Given the description of an element on the screen output the (x, y) to click on. 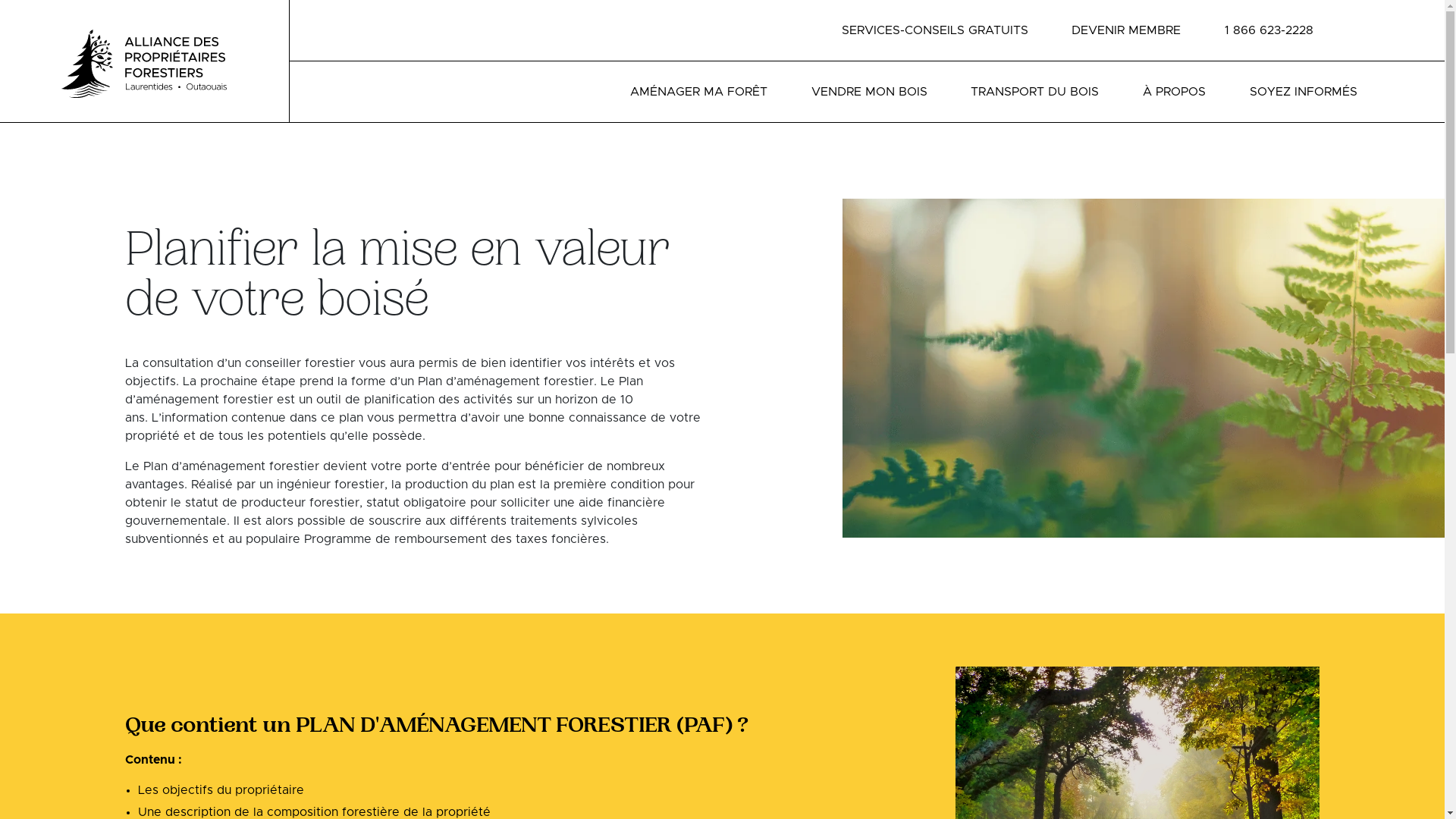
VENDRE MON BOIS Element type: text (869, 91)
DEVENIR MEMBRE Element type: text (1125, 30)
1 866 623-2228 Element type: text (1268, 30)
TRANSPORT DU BOIS Element type: text (1034, 91)
SERVICES-CONSEILS GRATUITS Element type: text (934, 30)
